Given the description of an element on the screen output the (x, y) to click on. 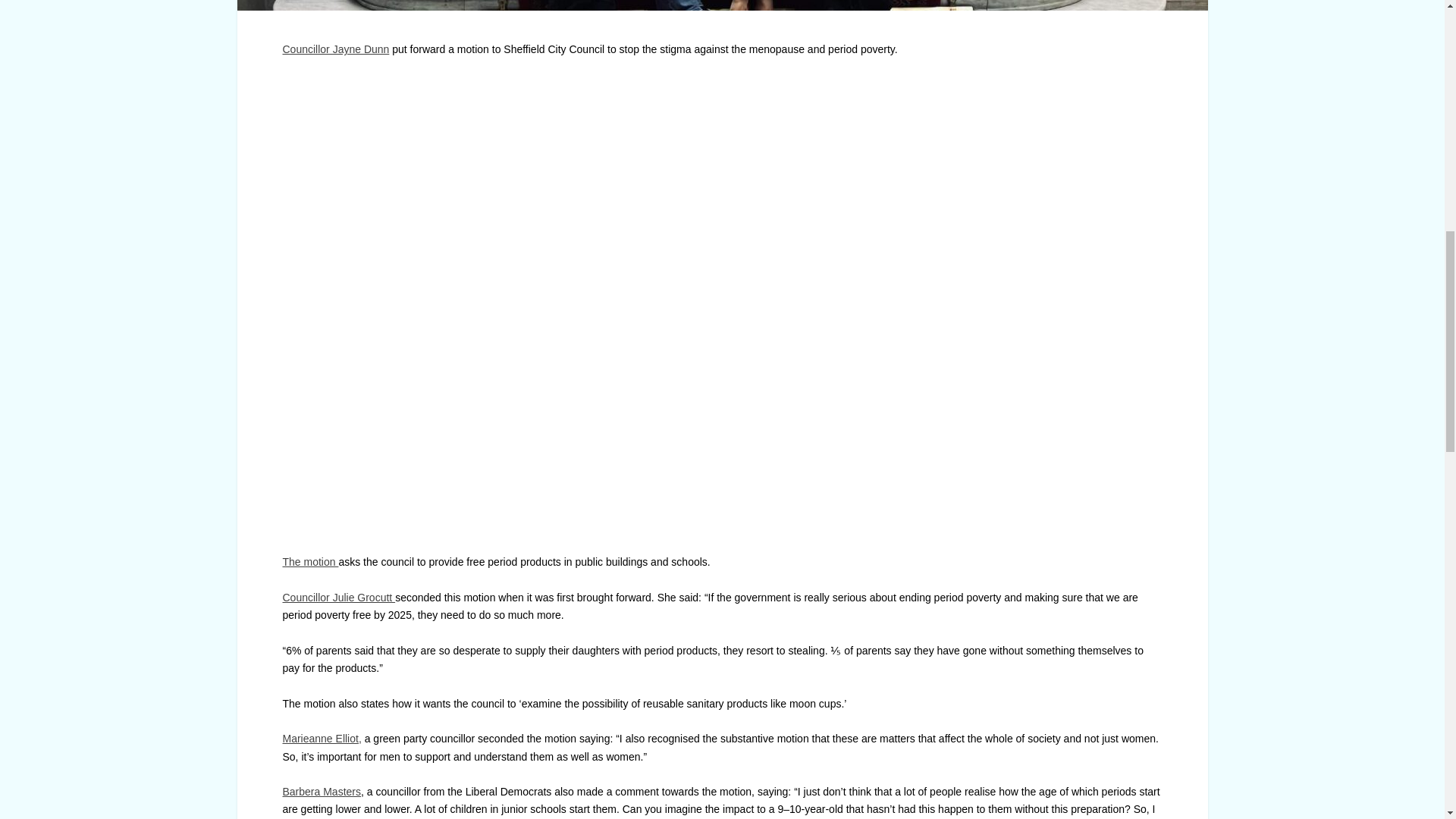
Marieanne Elliot, (321, 738)
Councillor Jayne Dunn (335, 49)
Barbera Masters (320, 791)
Councillor Julie Grocutt (338, 597)
The motion (309, 562)
